Given the description of an element on the screen output the (x, y) to click on. 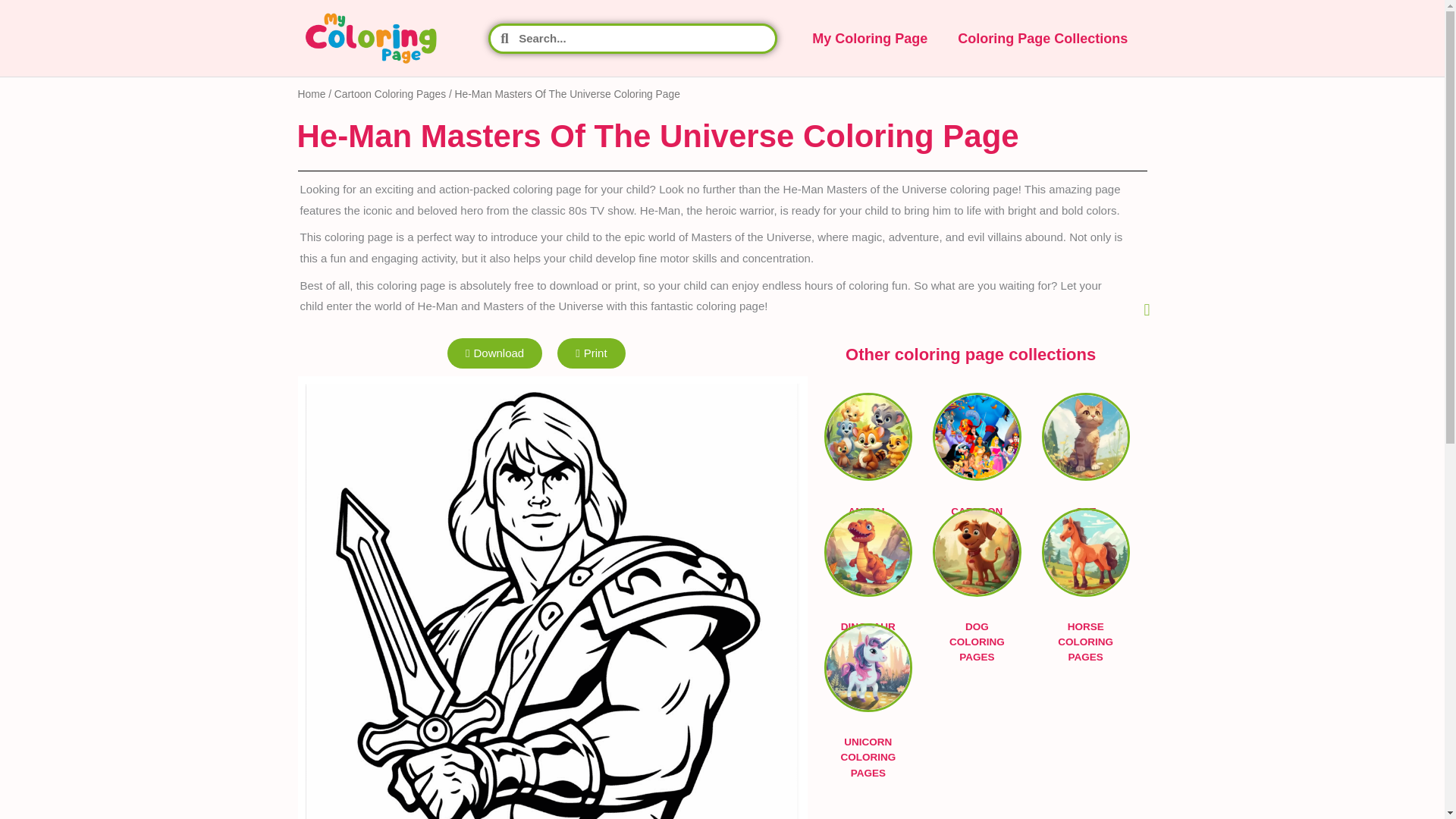
Coloring Page Collections (1042, 38)
DOG COLORING PAGES (976, 556)
My Coloring Page (869, 38)
Print (590, 353)
ANIMAL COLORING PAGES (868, 441)
CAT COLORING PAGES (1085, 441)
DINOSAUR COLORING PAGES (868, 556)
Home (310, 93)
Cartoon Coloring Pages (389, 93)
HORSE COLORING PAGES (1085, 556)
Download (493, 353)
UNICORN COLORING PAGES (868, 671)
CARTOON COLORING PAGES (976, 441)
